Given the description of an element on the screen output the (x, y) to click on. 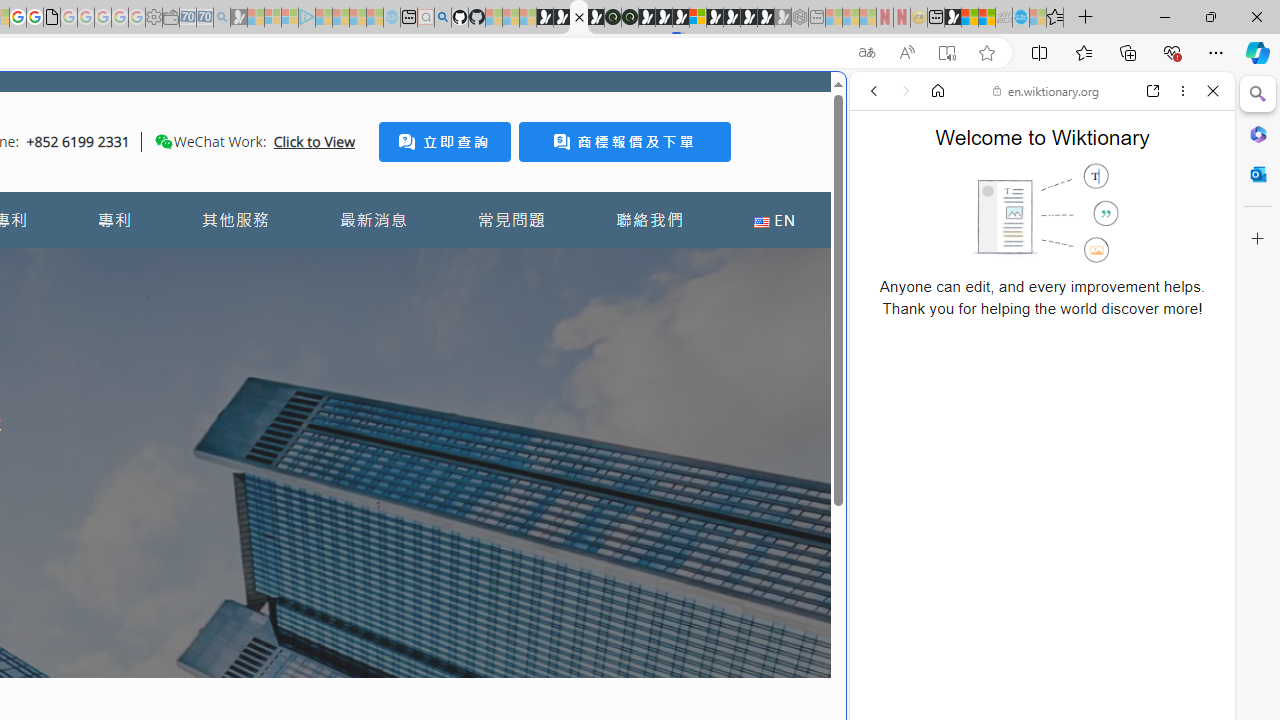
Search Filter, IMAGES (939, 228)
Forward (906, 91)
google_privacy_policy_zh-CN.pdf (51, 17)
